Given the description of an element on the screen output the (x, y) to click on. 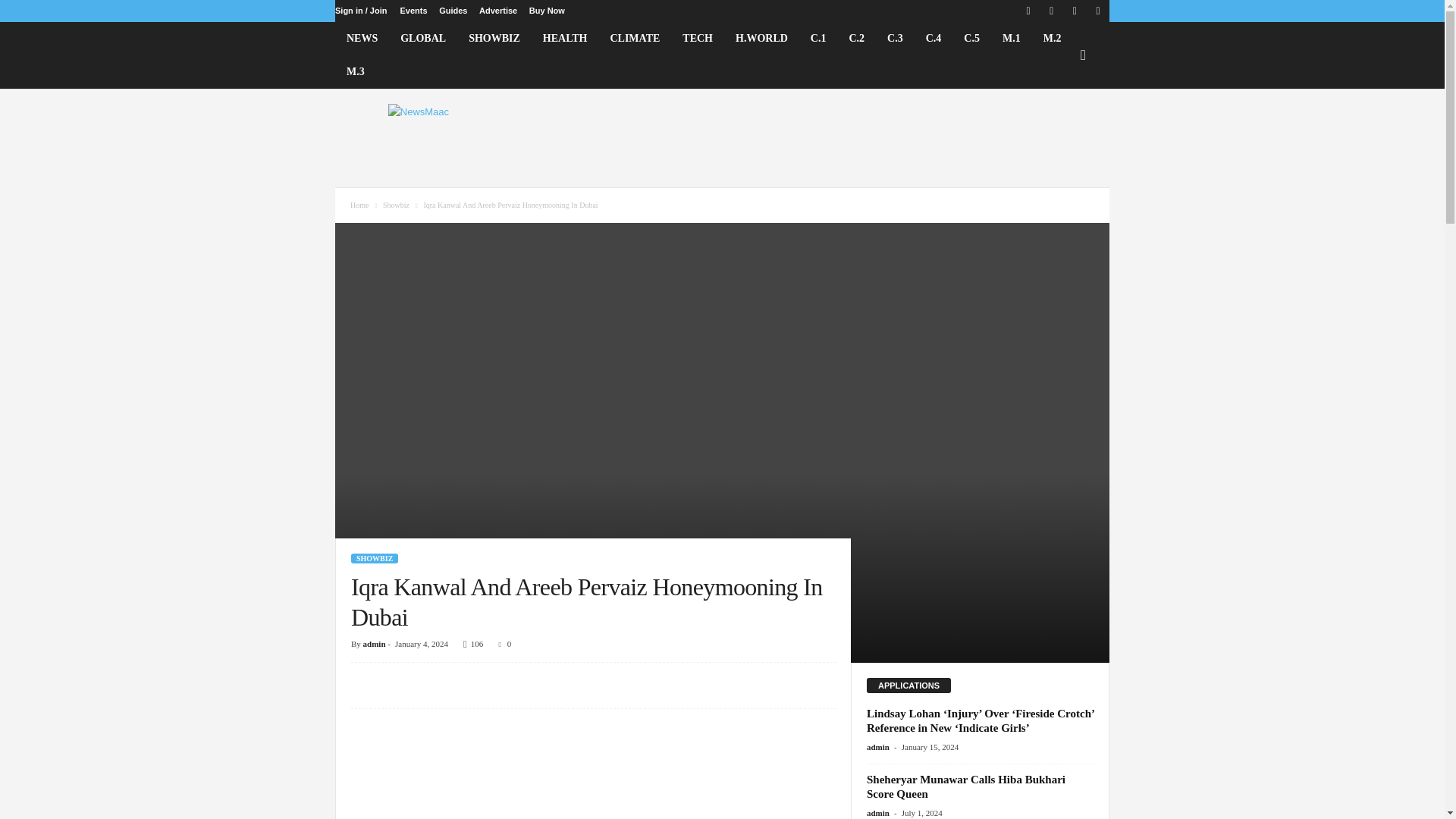
Twitter (1074, 11)
Advertise (497, 10)
Youtube (1097, 11)
Events (412, 10)
News the Global  (437, 137)
CLIMATE (634, 38)
View all posts in Showbiz (395, 204)
Facebook (1027, 11)
Instagram (1051, 11)
SHOWBIZ (494, 38)
NEWS (361, 38)
Guides (453, 10)
